Given the description of an element on the screen output the (x, y) to click on. 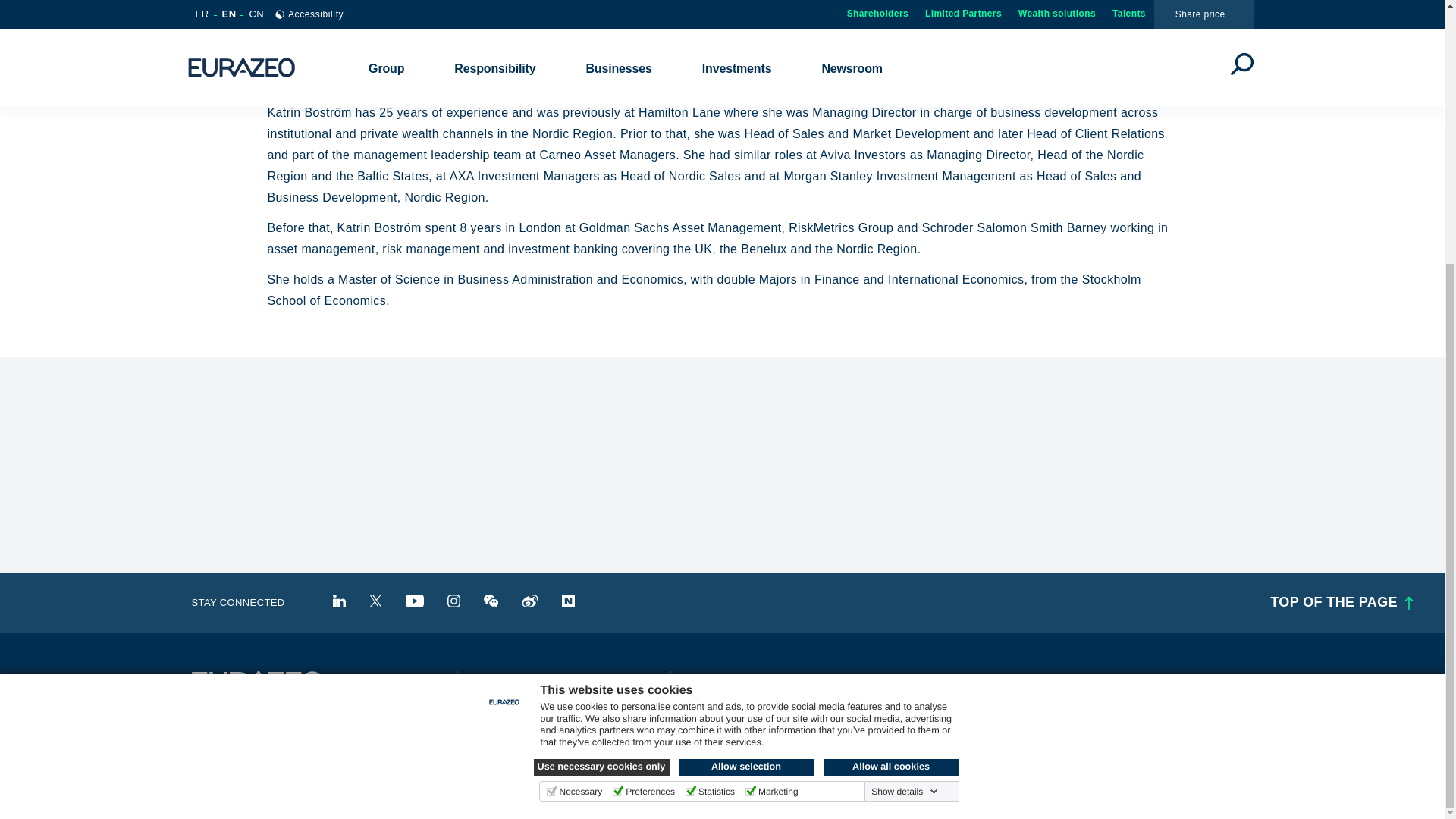
Use necessary cookies only (601, 386)
TOP OF THE PAGE (1338, 603)
Show details (903, 410)
LinkedIn (339, 600)
Allow all cookies (891, 386)
Allow selection (745, 386)
